Given the description of an element on the screen output the (x, y) to click on. 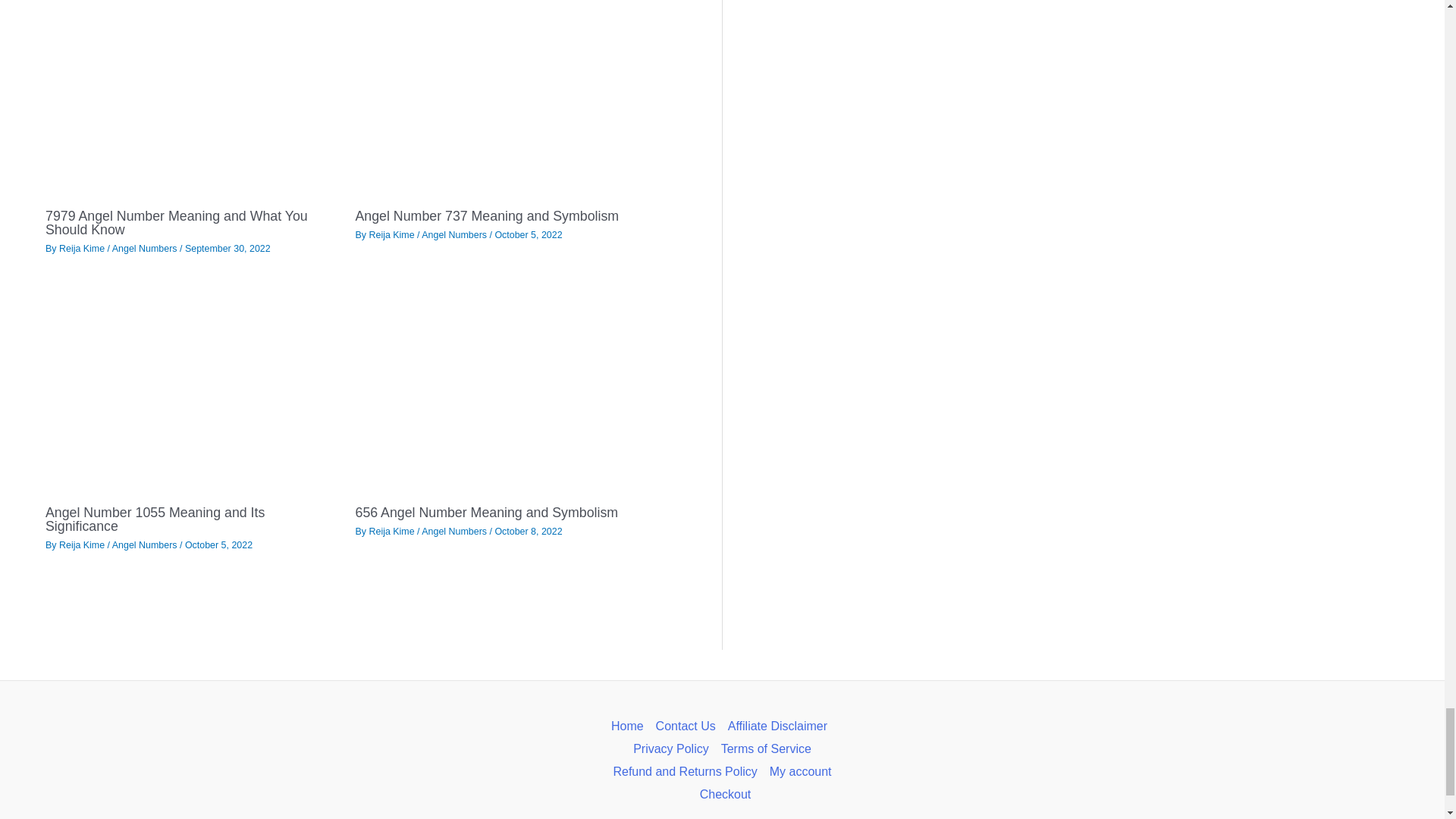
View all posts by Reija Kime (392, 531)
View all posts by Reija Kime (83, 544)
View all posts by Reija Kime (83, 248)
View all posts by Reija Kime (392, 235)
